Given the description of an element on the screen output the (x, y) to click on. 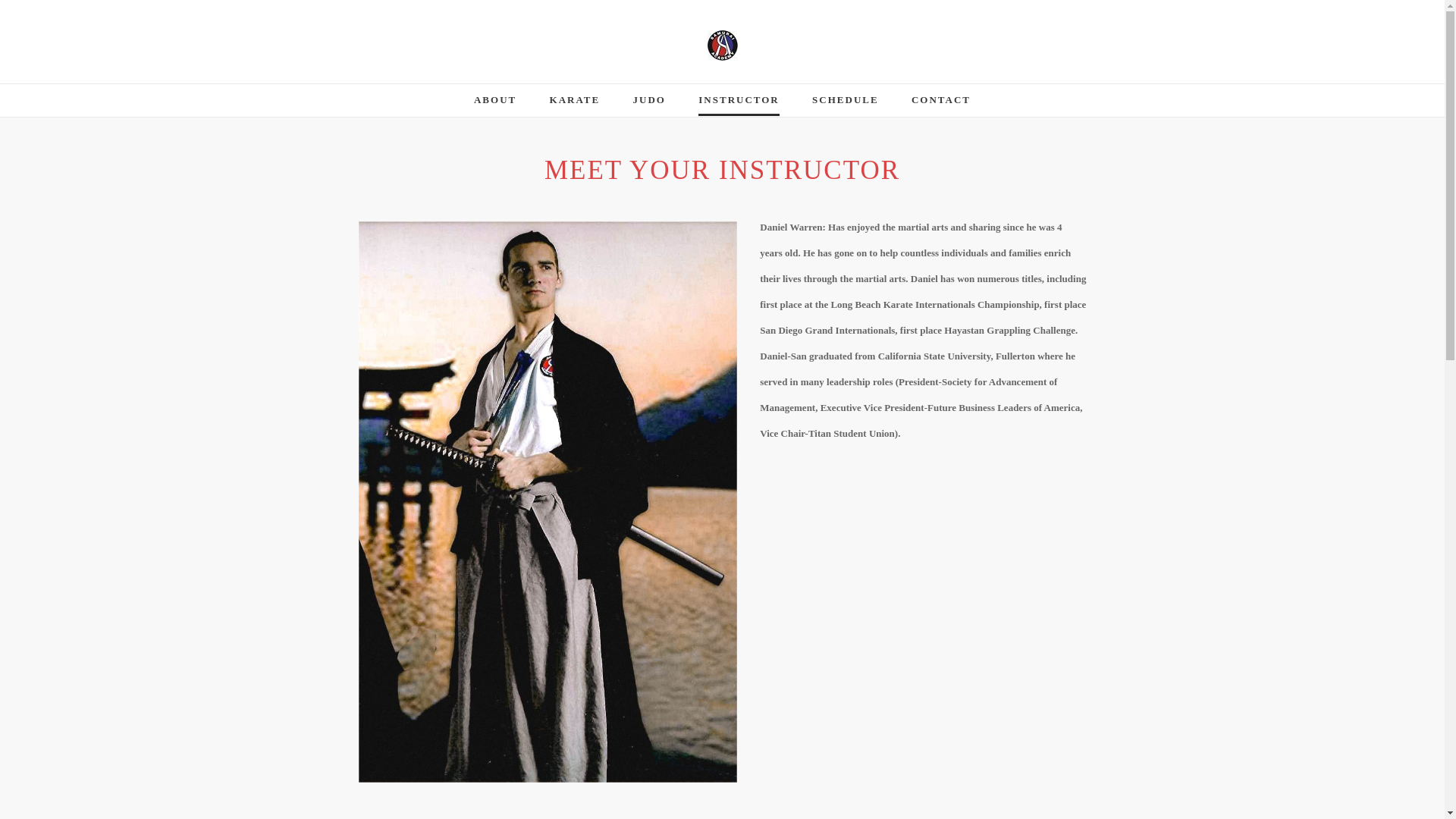
JUDO (649, 105)
INSTRUCTOR (738, 105)
ABOUT (495, 105)
KARATE (574, 105)
SCHEDULE (845, 105)
CONTACT (941, 105)
